Given the description of an element on the screen output the (x, y) to click on. 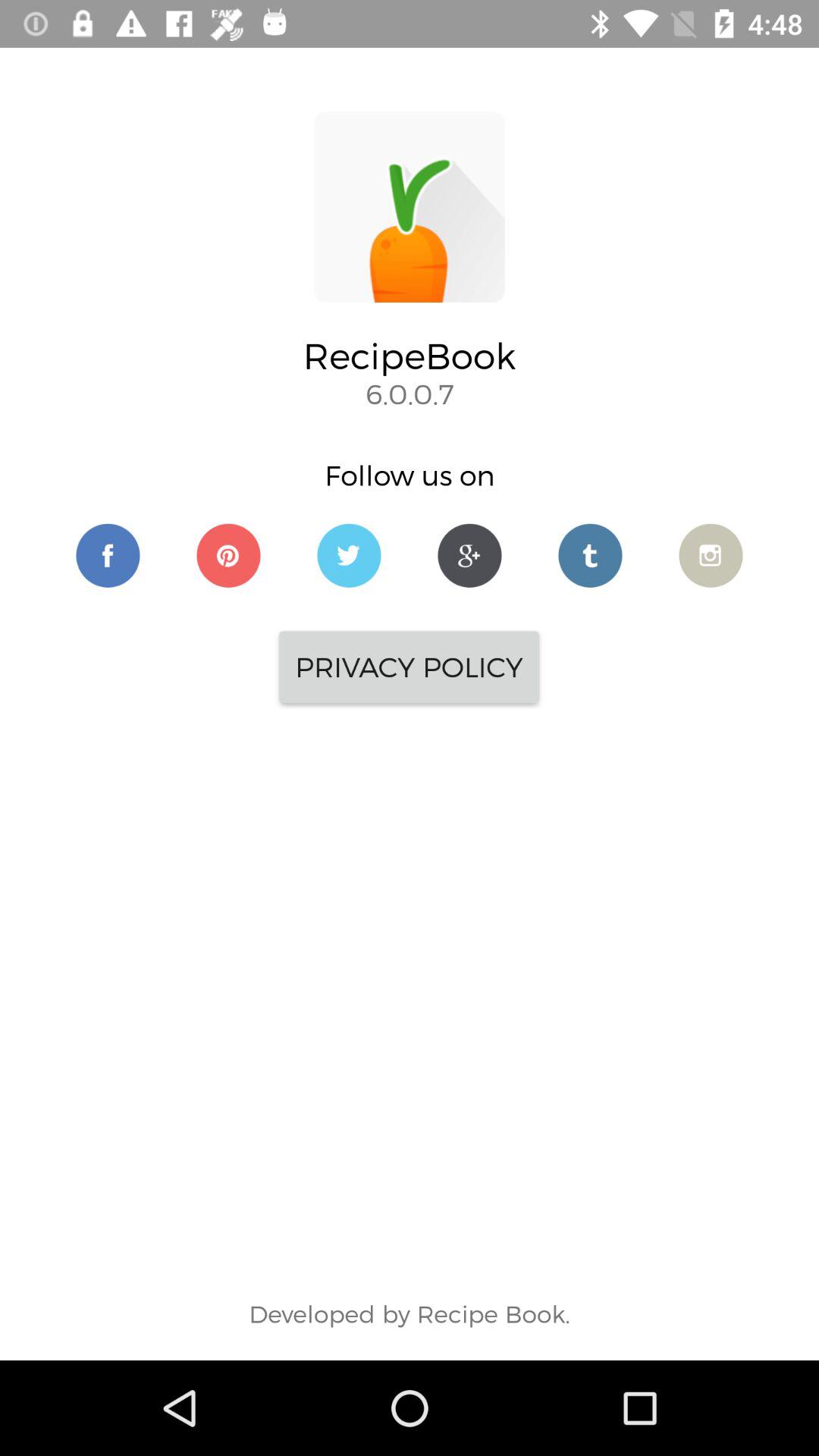
toggle to google (469, 555)
